Given the description of an element on the screen output the (x, y) to click on. 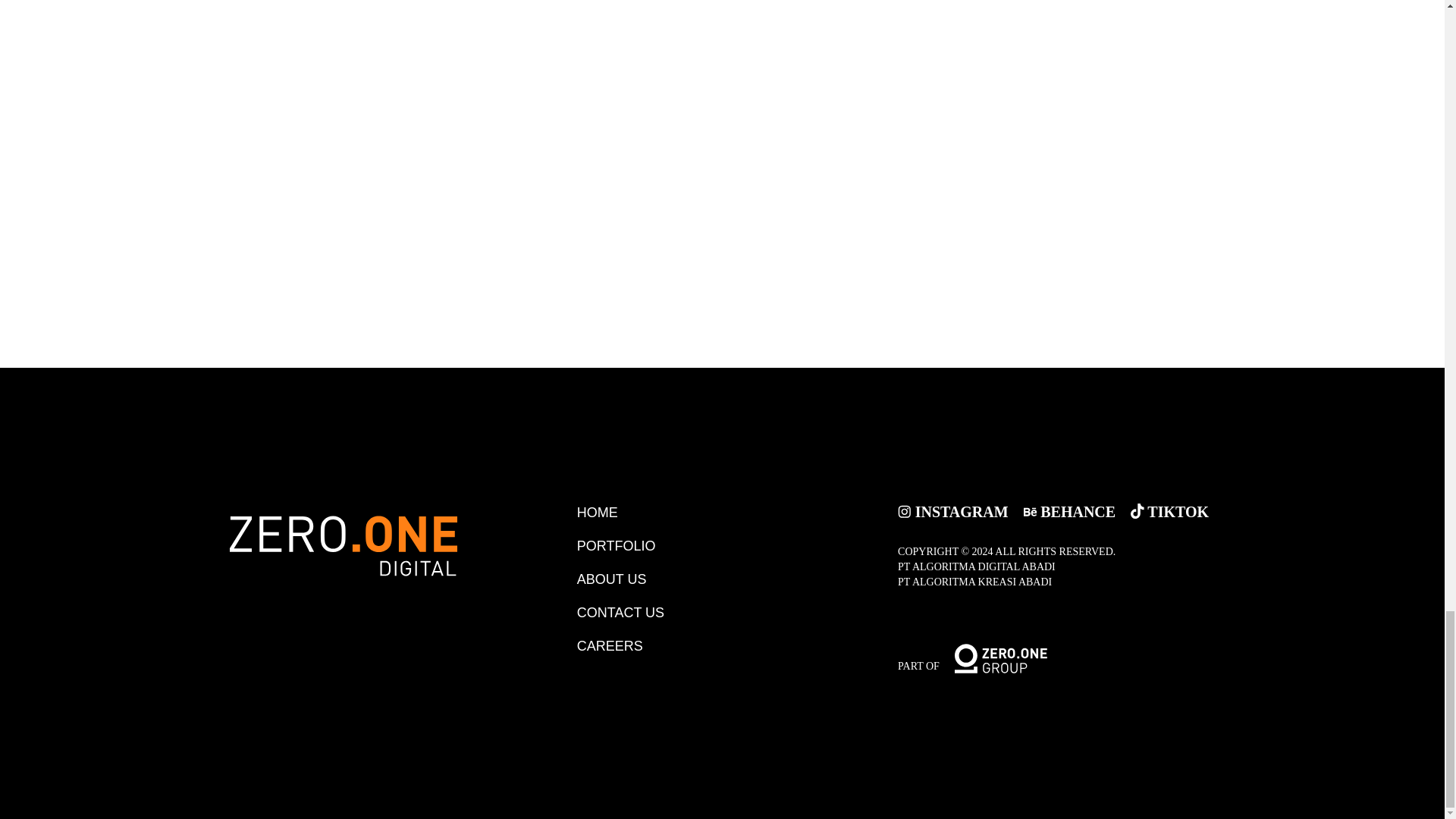
CAREERS (617, 646)
TIKTOK (1171, 511)
CONTACT US (627, 612)
INSTAGRAM    (960, 511)
PORTFOLIO (622, 545)
ABOUT US (618, 579)
HOME (603, 512)
BEHANCE    (1077, 511)
